Given the description of an element on the screen output the (x, y) to click on. 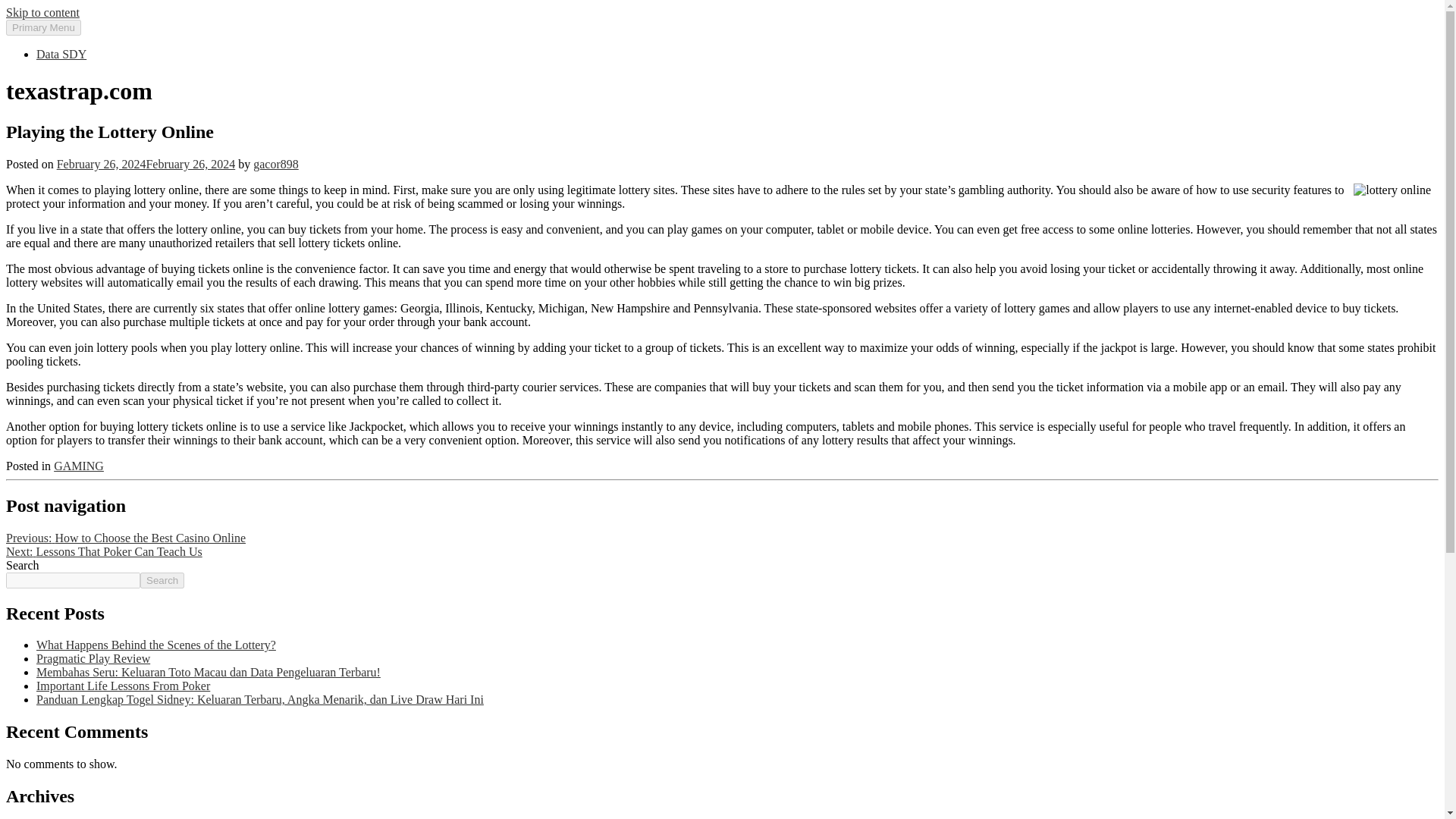
gacor898 (275, 164)
GAMING (78, 465)
February 26, 2024February 26, 2024 (145, 164)
Important Life Lessons From Poker (122, 685)
Search (161, 580)
Primary Menu (43, 27)
Previous: How to Choose the Best Casino Online (125, 537)
Skip to content (42, 11)
What Happens Behind the Scenes of the Lottery? (156, 644)
Data SDY (60, 53)
Next: Lessons That Poker Can Teach Us (103, 551)
Pragmatic Play Review (92, 658)
